Given the description of an element on the screen output the (x, y) to click on. 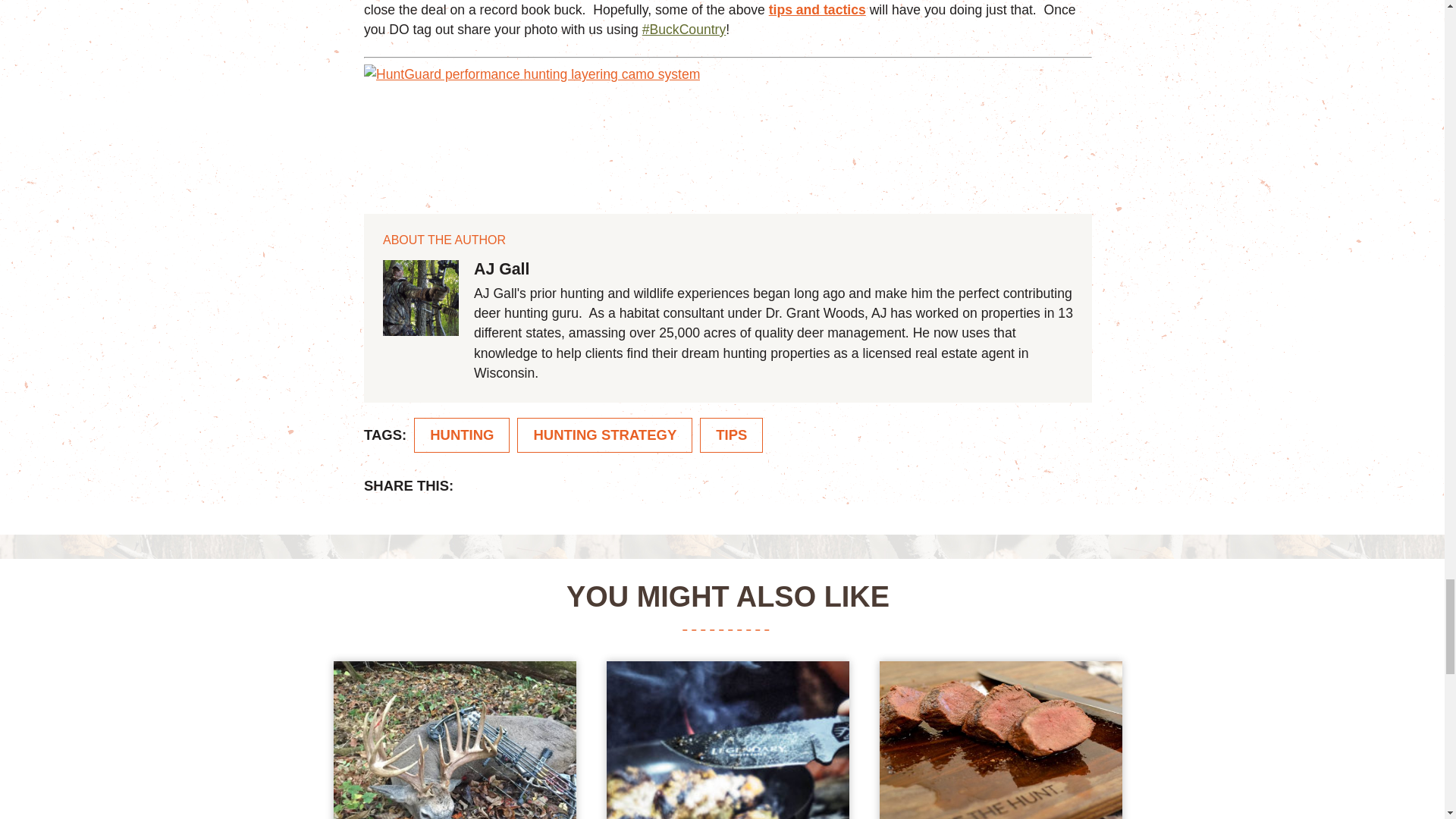
HUNTING (461, 434)
tips and tactics (817, 9)
TIPS (731, 434)
HUNTING STRATEGY (604, 434)
